Given the description of an element on the screen output the (x, y) to click on. 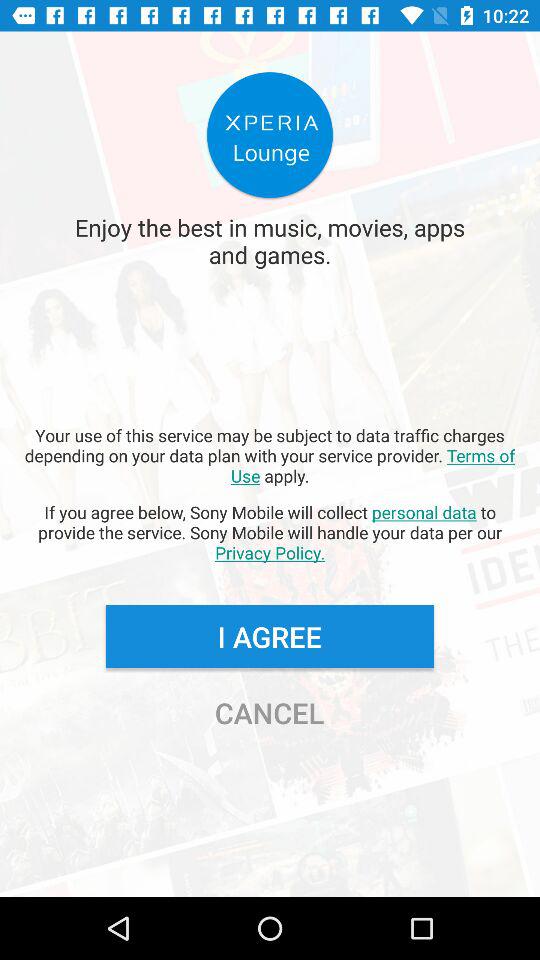
flip to the i agree item (269, 636)
